Given the description of an element on the screen output the (x, y) to click on. 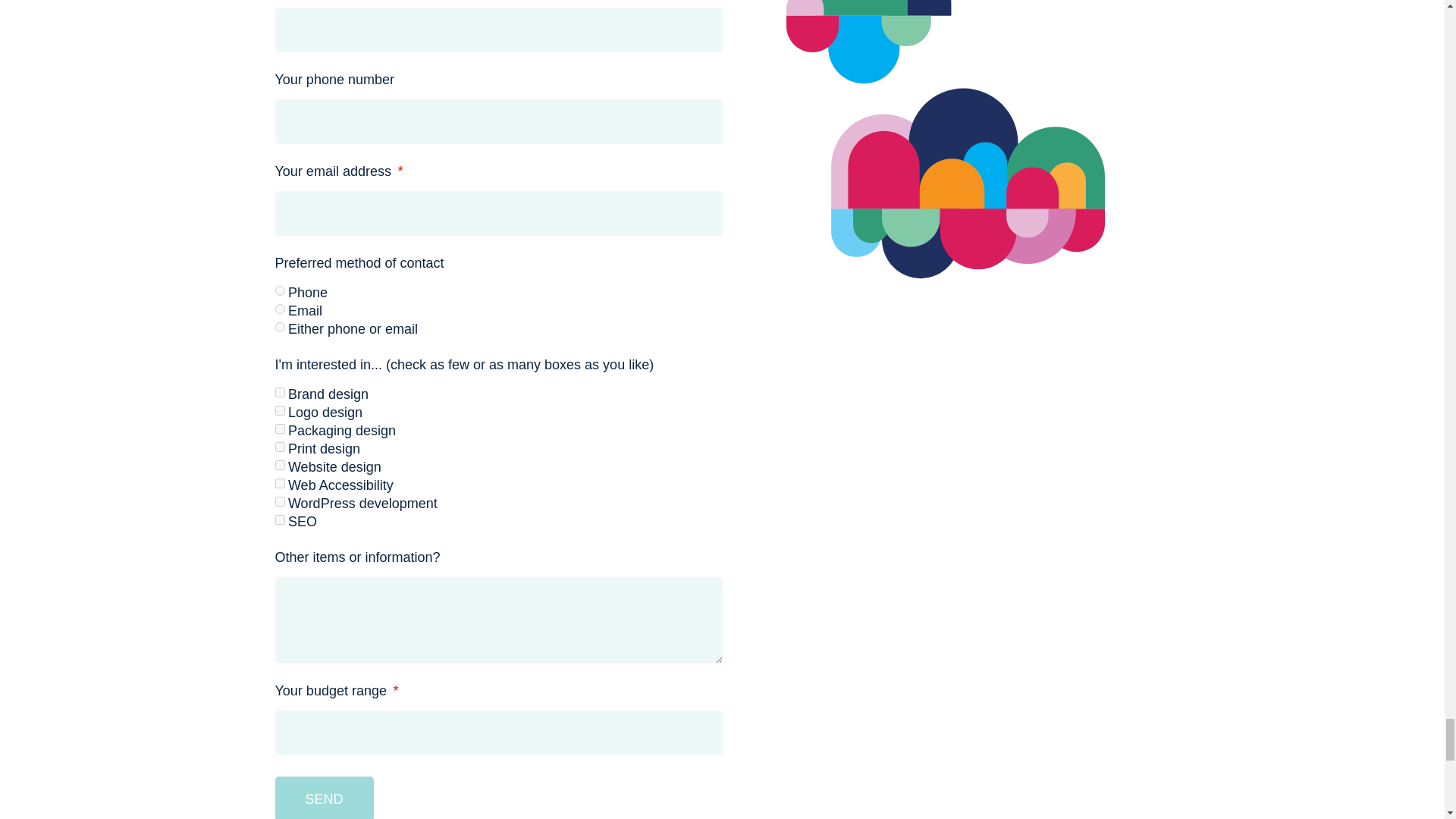
Packaging design (279, 429)
WordPress development (279, 501)
SEO (279, 519)
Email  (279, 308)
Phone  (279, 290)
Print design (279, 447)
Website design (279, 465)
Either phone or email (279, 327)
Brand design (279, 392)
Logo design (279, 410)
